Given the description of an element on the screen output the (x, y) to click on. 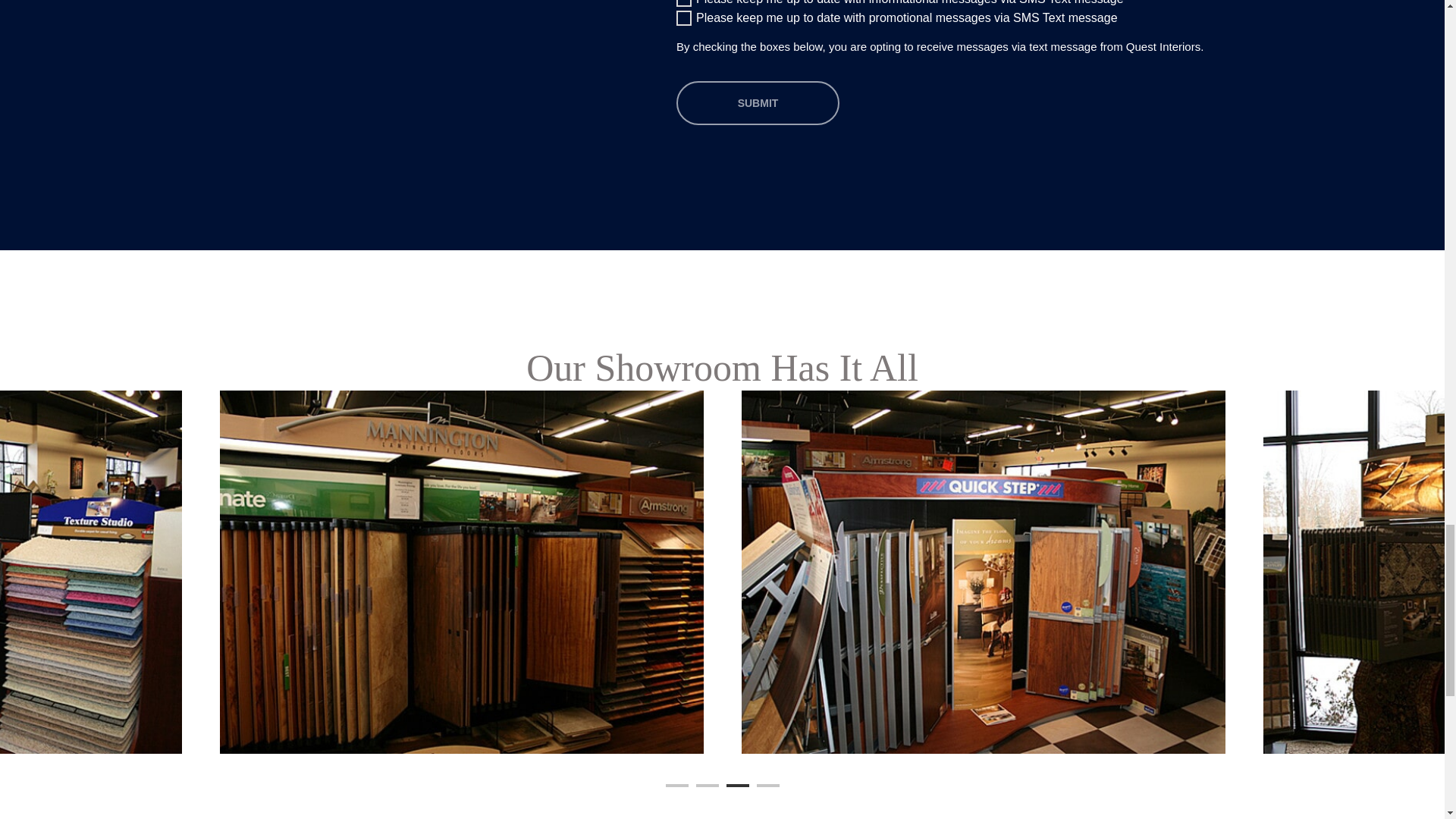
Submit (758, 103)
